Given the description of an element on the screen output the (x, y) to click on. 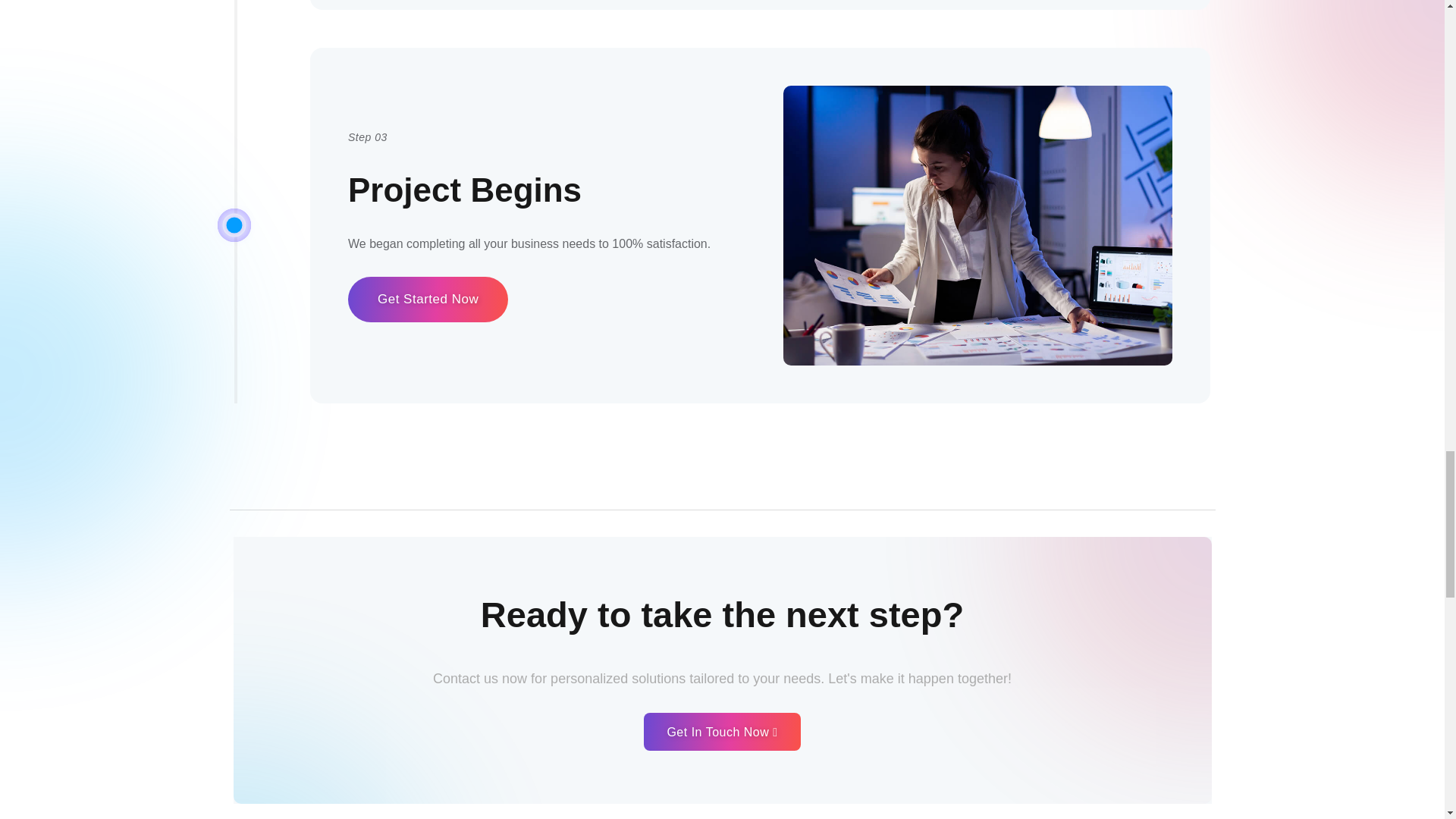
Get Started Now (427, 299)
Get In Touch Now (721, 731)
